Given the description of an element on the screen output the (x, y) to click on. 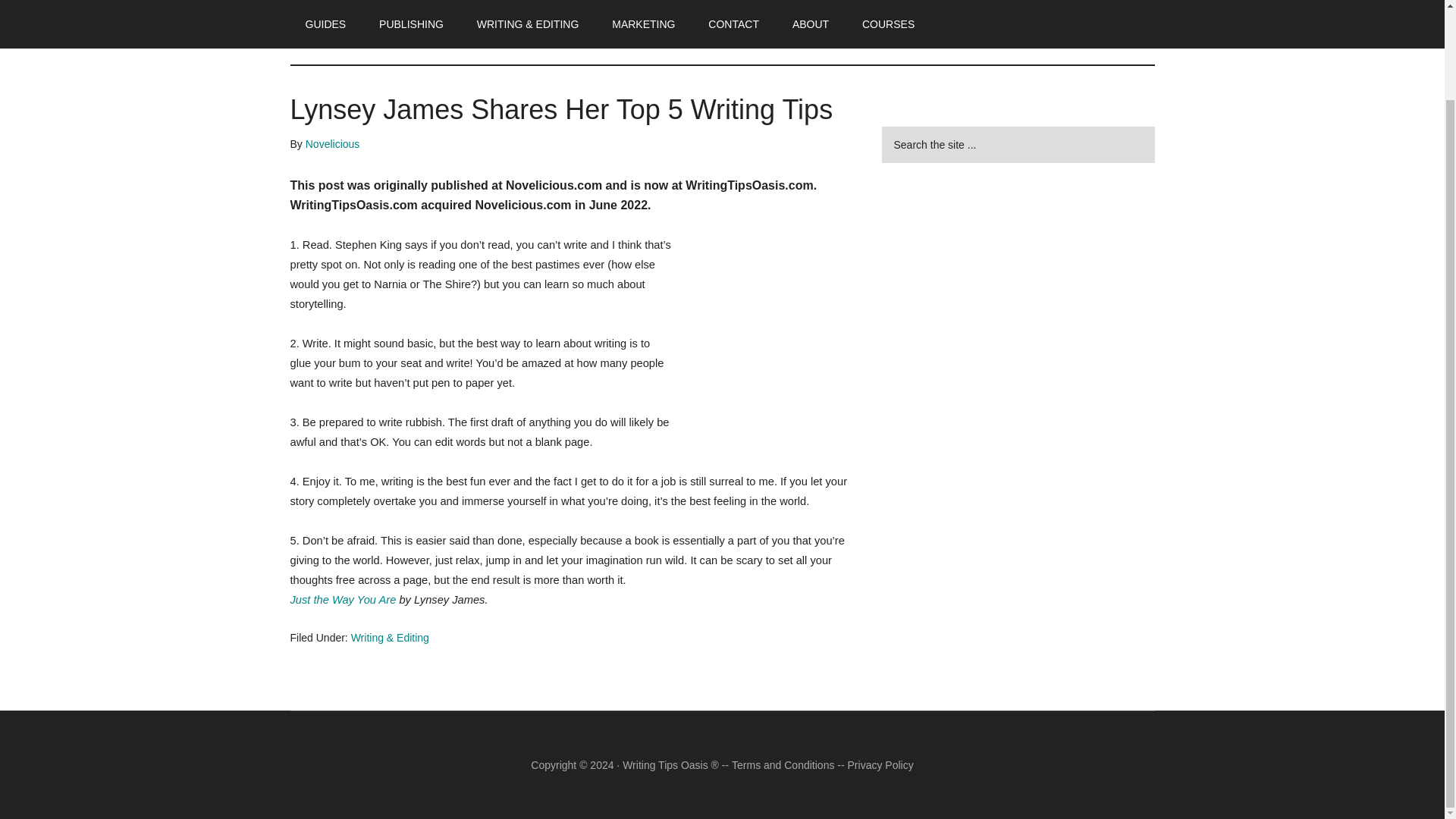
Privacy Policy (880, 765)
Novelicious (332, 143)
Terms and Conditions (783, 765)
Just the Way You Are by Lynsey James (342, 599)
Just the Way You Are (342, 599)
Lynsey James (768, 325)
